Given the description of an element on the screen output the (x, y) to click on. 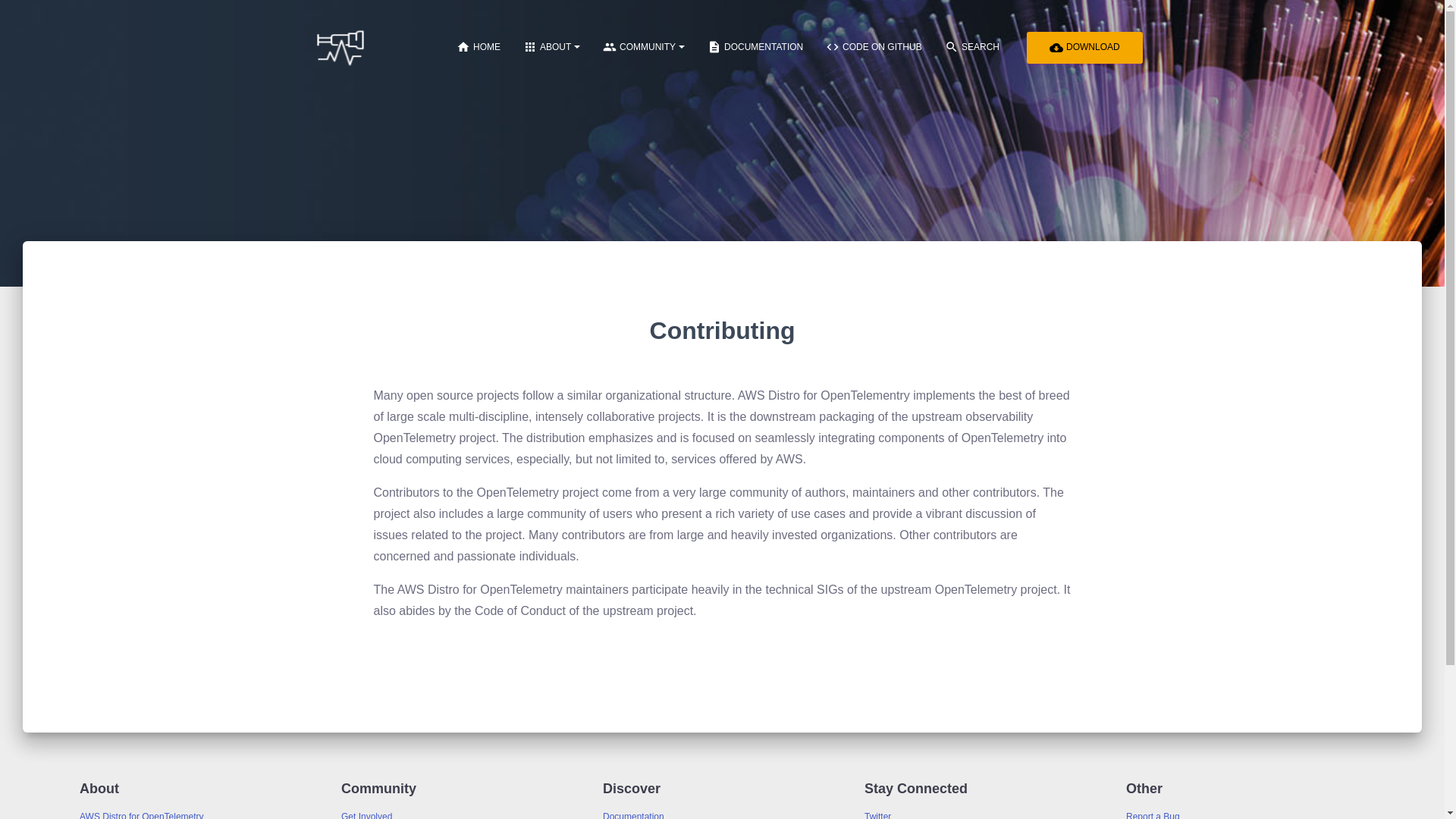
COMMUNITY (643, 46)
SEARCH (971, 45)
DOWNLOAD (1084, 47)
DOWNLOAD (1084, 46)
DOCUMENTATION (754, 45)
Report a Bug (1152, 815)
Documentation (632, 815)
Twitter (877, 815)
Get Involved (365, 815)
ABOUT (551, 46)
